Given the description of an element on the screen output the (x, y) to click on. 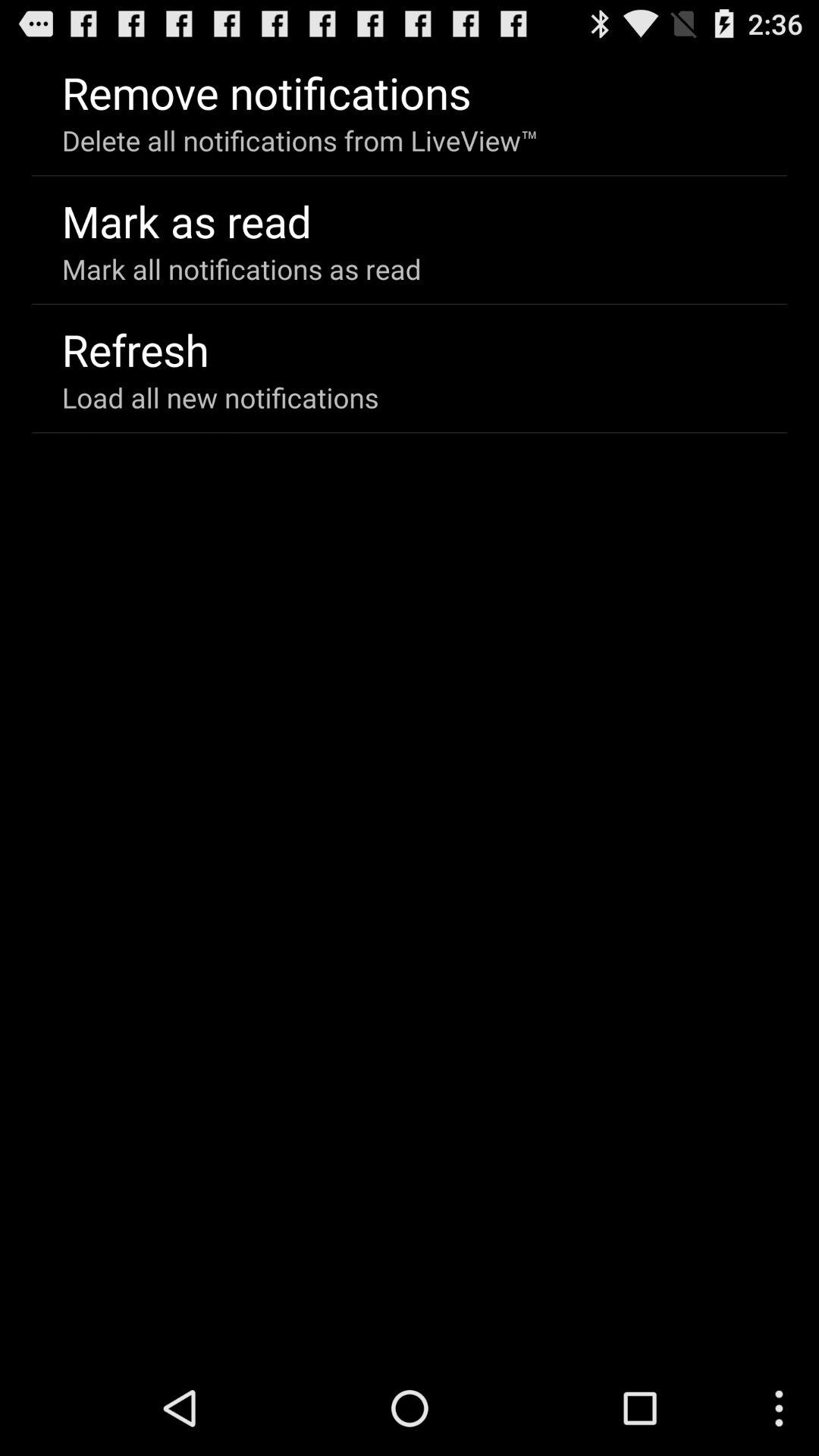
press item above load all new item (135, 349)
